Given the description of an element on the screen output the (x, y) to click on. 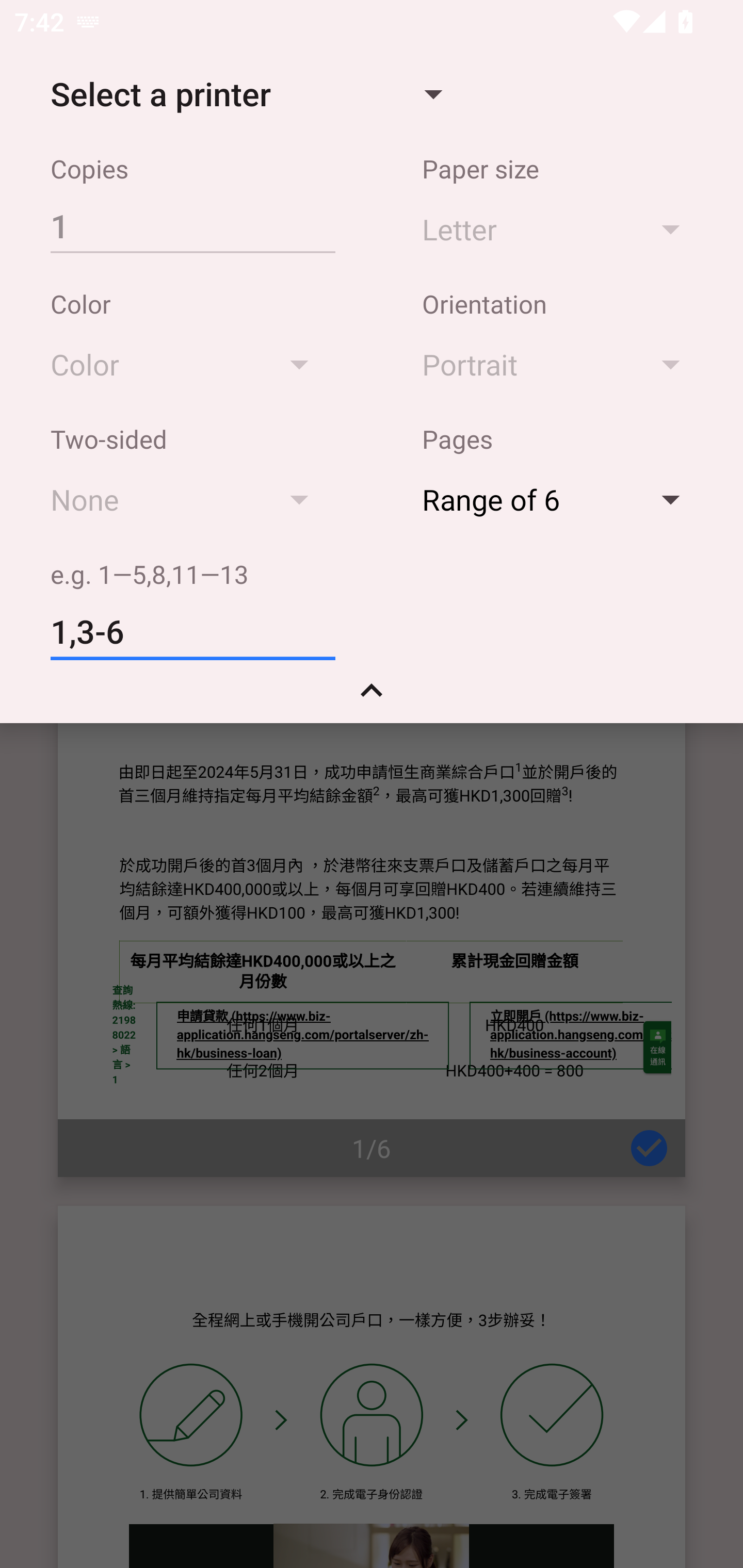
Select a printer (245, 93)
1 (192, 225)
Letter (560, 228)
Color (189, 364)
Portrait (560, 364)
None (189, 499)
Range of 6 (560, 499)
1,3-6 (192, 631)
Collapse handle (371, 697)
